Given the description of an element on the screen output the (x, y) to click on. 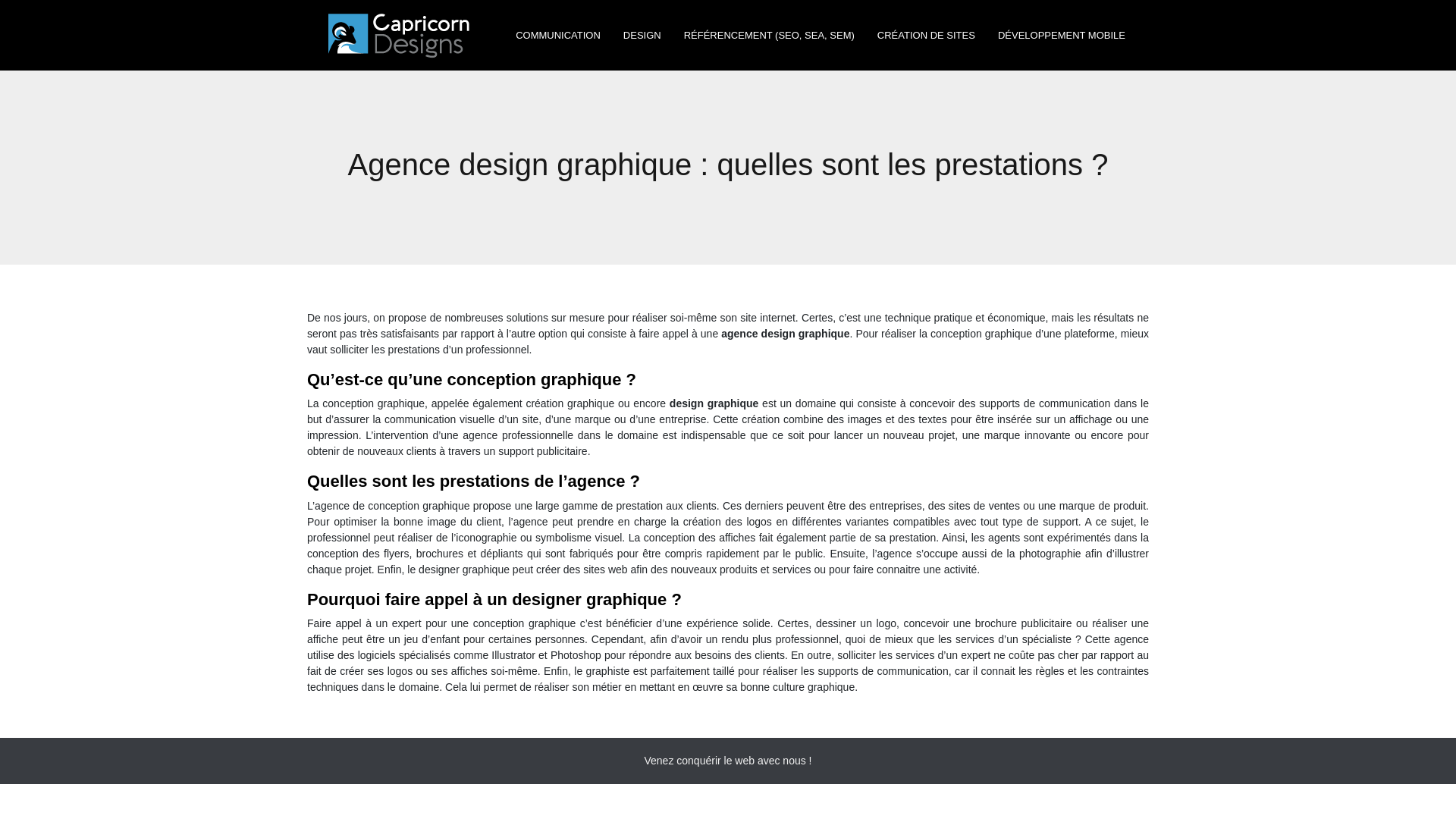
COMMUNICATION Element type: text (557, 35)
DESIGN Element type: text (642, 35)
